Given the description of an element on the screen output the (x, y) to click on. 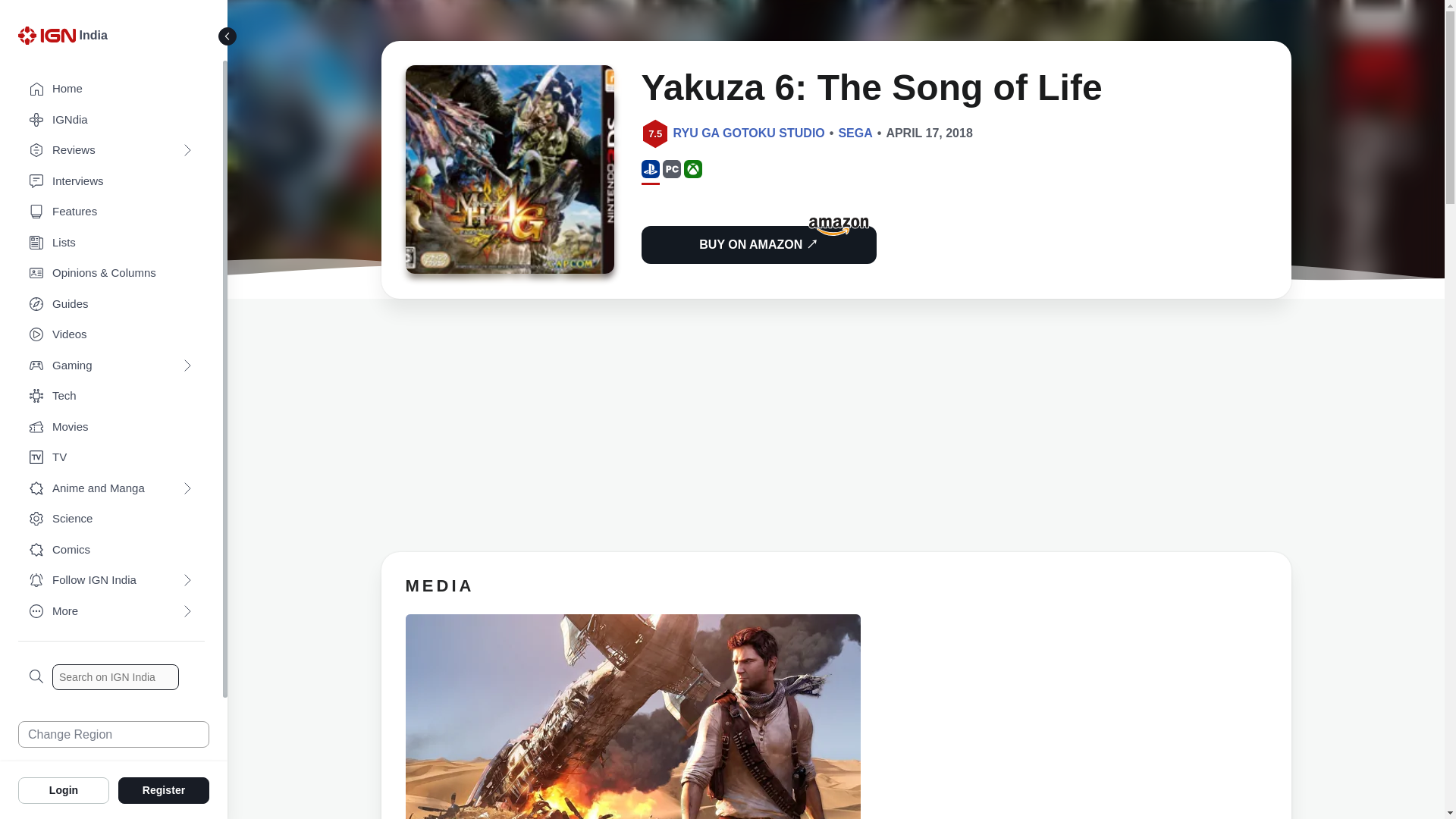
IGN Logo (48, 39)
Home (111, 89)
Lists (111, 242)
More (111, 610)
Interviews (111, 181)
Yakuza 6: The Song of Life (508, 173)
Science (111, 518)
Guides (111, 304)
Comics (111, 550)
Toggle Sidebar (226, 36)
Movies (111, 427)
TV (111, 457)
Yakuza 6: The Song of Life (508, 169)
Anime and Manga (111, 487)
Tech (111, 396)
